Given the description of an element on the screen output the (x, y) to click on. 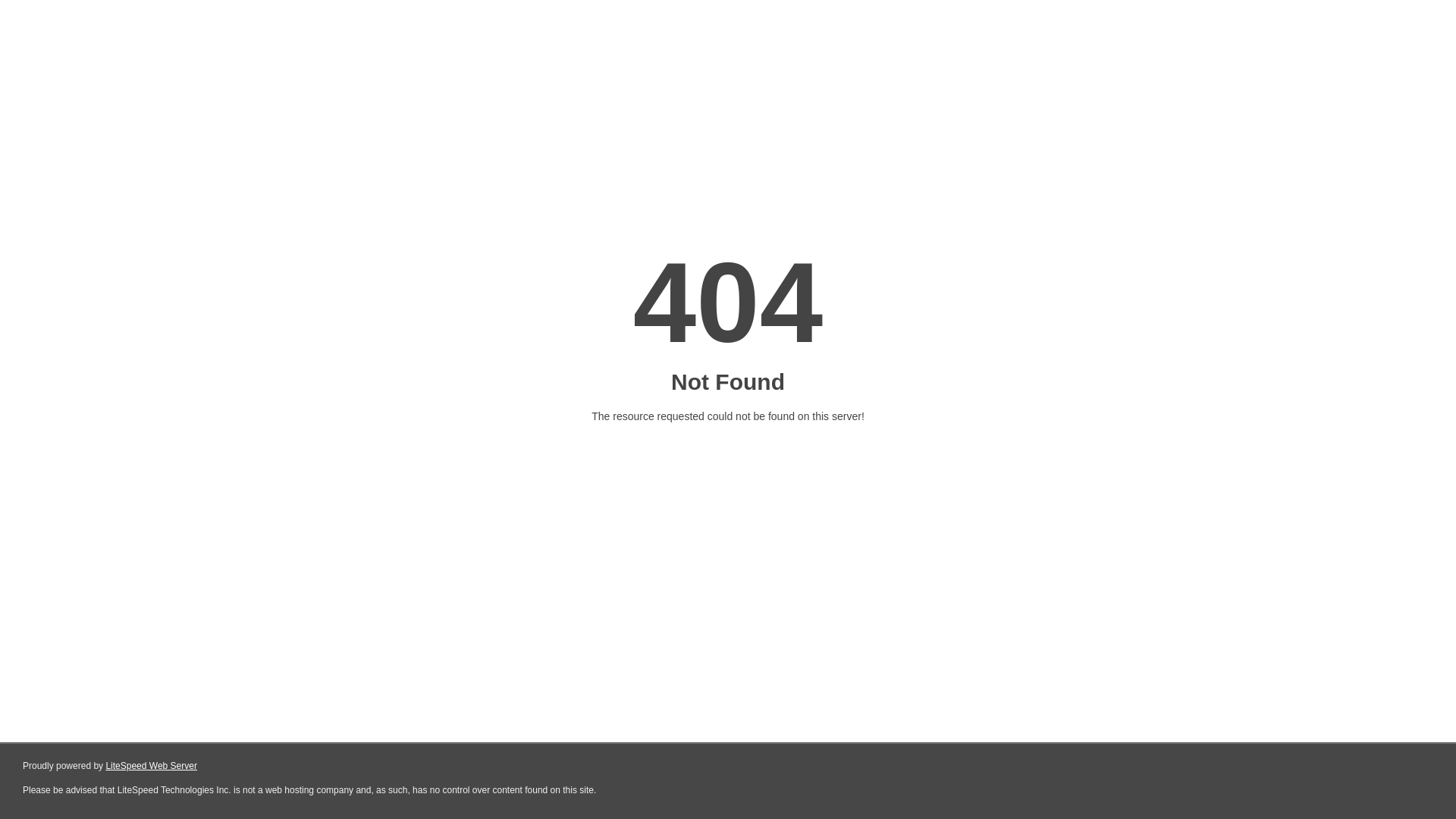
LiteSpeed Web Server Element type: text (151, 765)
